Given the description of an element on the screen output the (x, y) to click on. 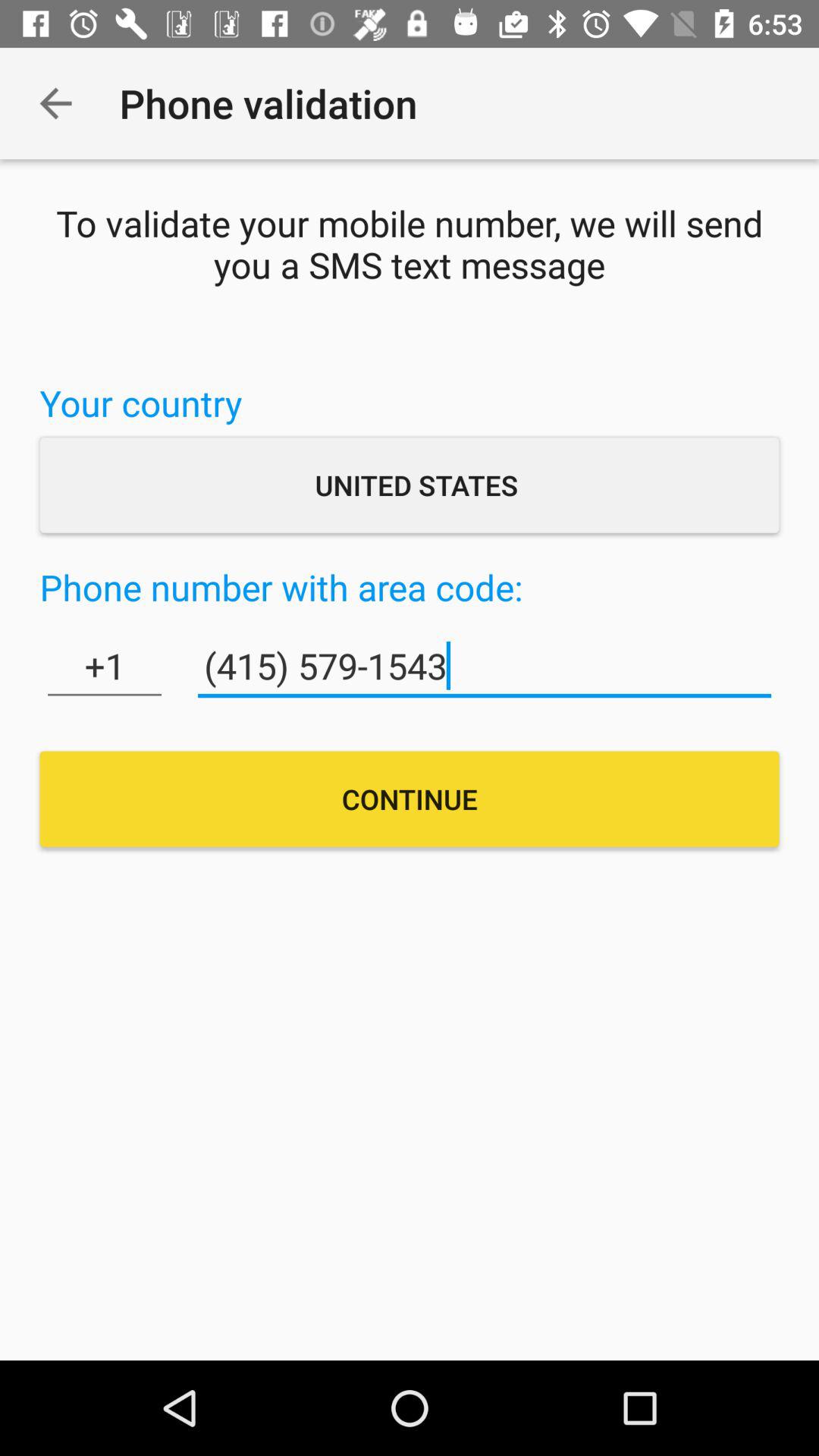
choose the icon next to the phone validation item (55, 103)
